Given the description of an element on the screen output the (x, y) to click on. 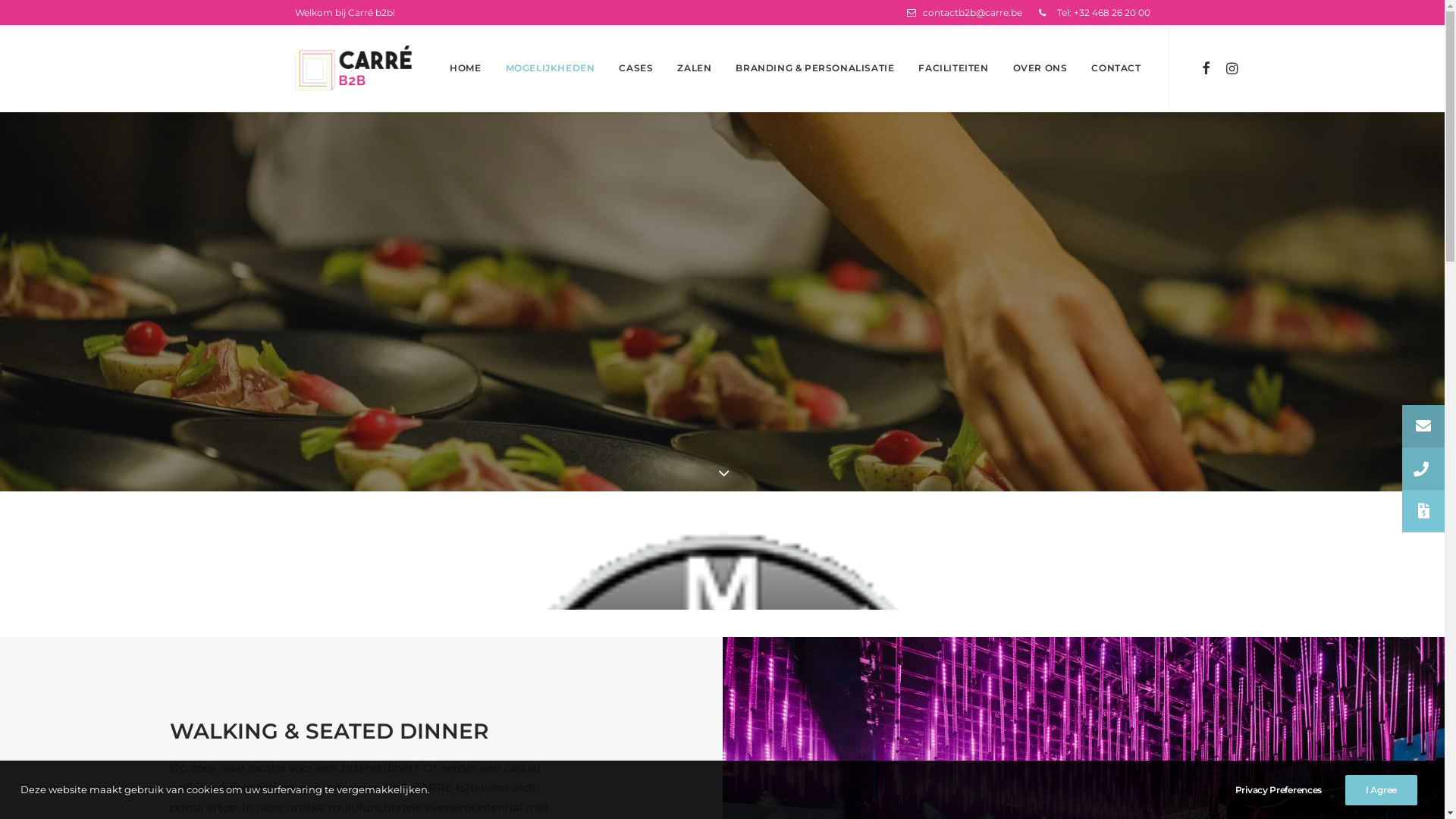
ZALEN Element type: text (693, 68)
Tel: +32 468 26 20 00 Element type: text (1090, 12)
FACILITEITEN Element type: text (952, 68)
CASES Element type: text (635, 68)
HOME Element type: text (465, 68)
CONTACT Element type: text (1110, 68)
OVER ONS Element type: text (1040, 68)
BRANDING & PERSONALISATIE Element type: text (814, 68)
MOGELIJKHEDEN Element type: text (550, 68)
Privacy Preferences Element type: text (1288, 789)
I Agree Element type: text (1381, 790)
contactb2b@carre.be Element type: text (967, 12)
